Given the description of an element on the screen output the (x, y) to click on. 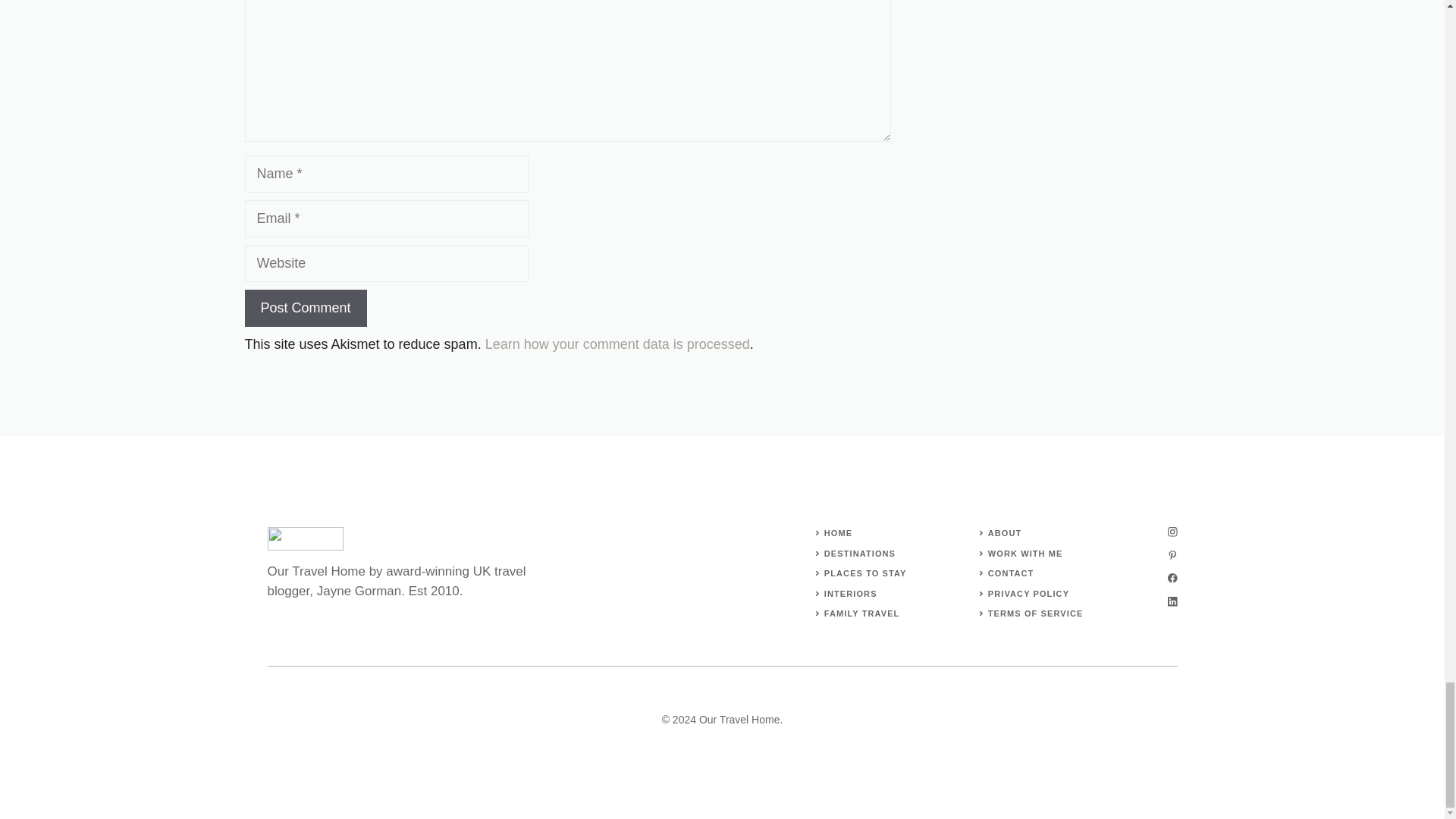
our travel home logo (304, 538)
Post Comment (305, 307)
